Given the description of an element on the screen output the (x, y) to click on. 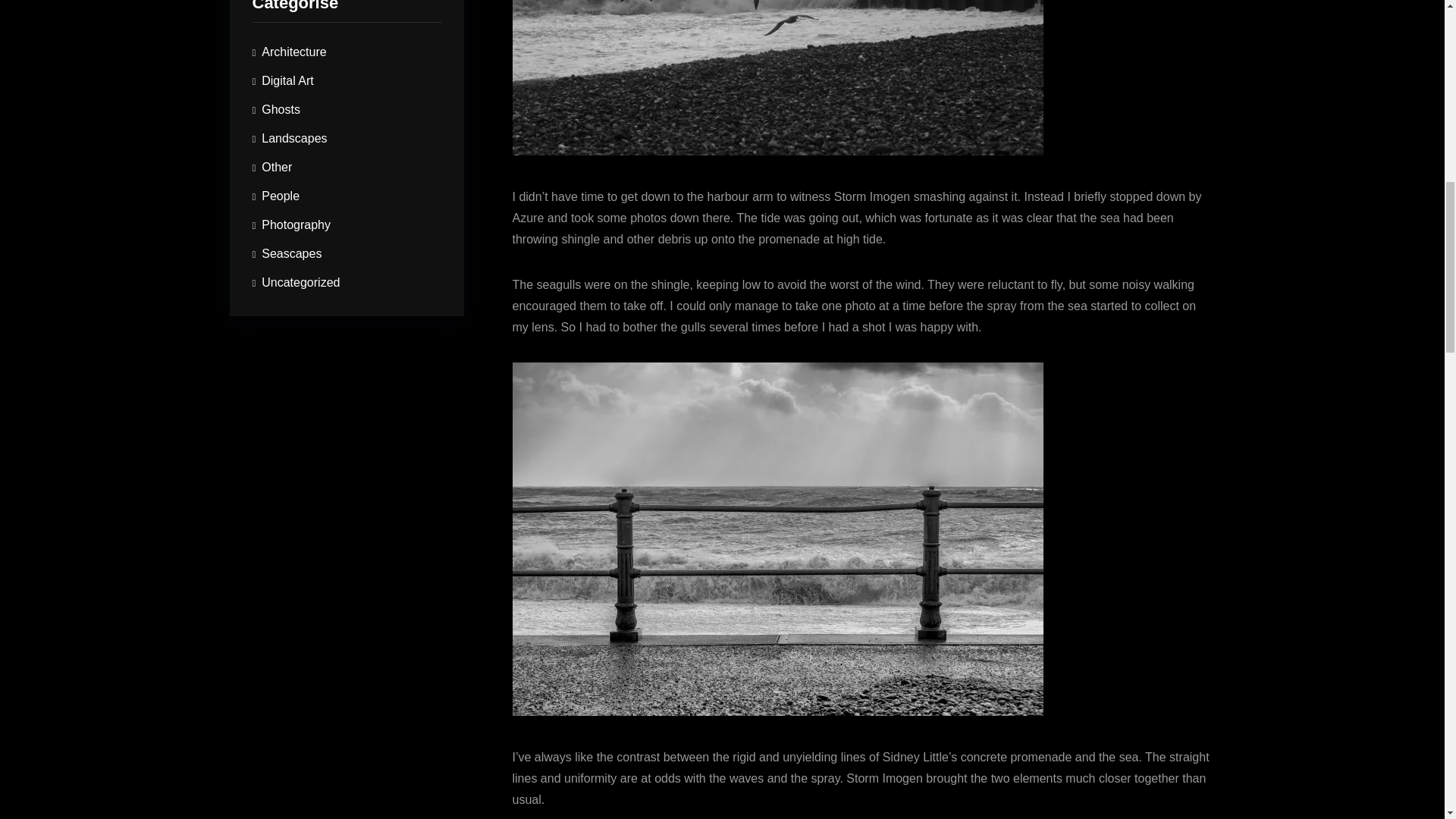
Other (271, 190)
Photography (290, 240)
Architecture (288, 102)
Ghosts (275, 146)
People (275, 215)
Digital Art (282, 123)
Uncategorized (295, 290)
Landscapes (288, 166)
Seascapes (286, 264)
